Given the description of an element on the screen output the (x, y) to click on. 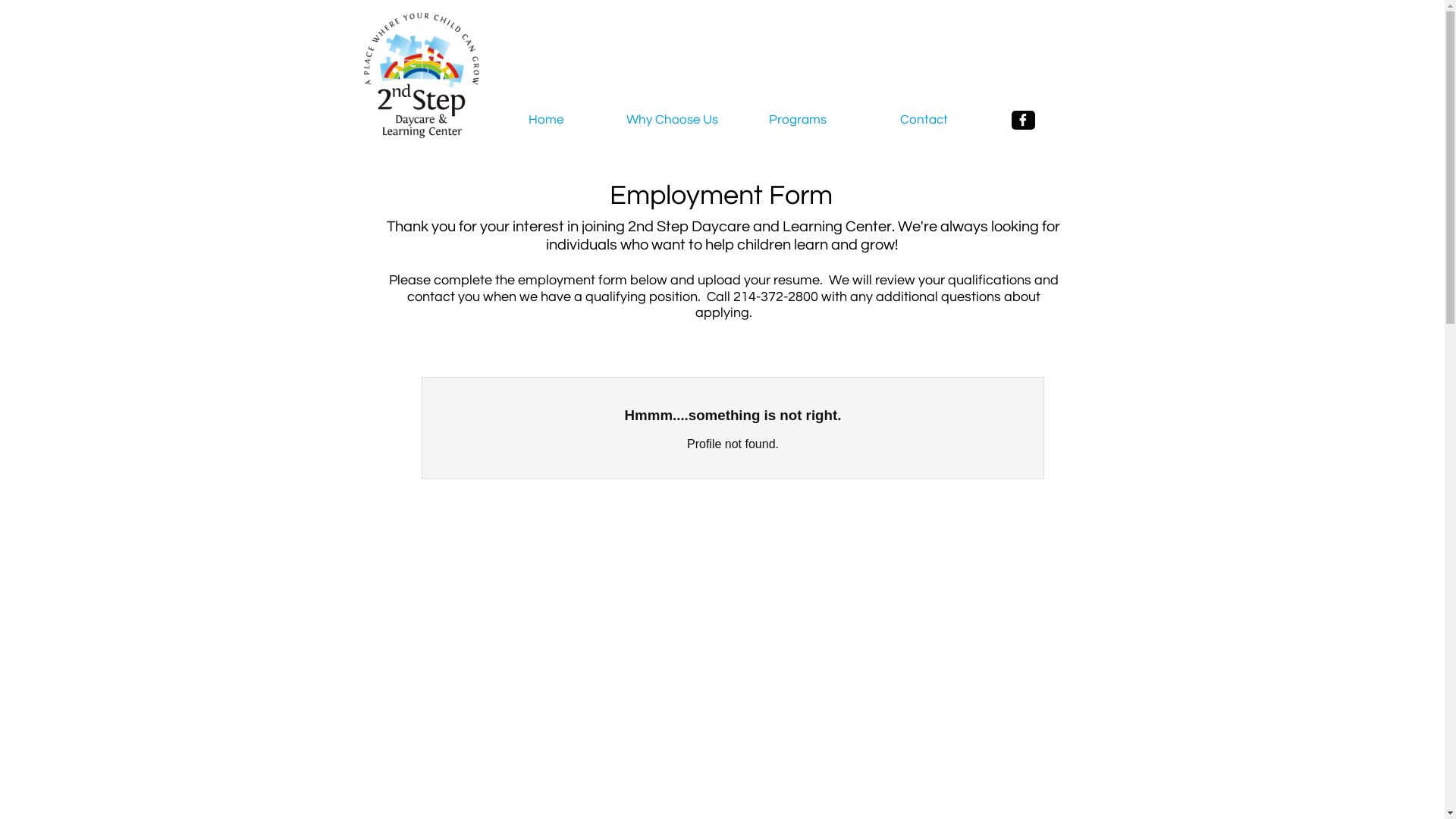
Contact Element type: text (923, 119)
Home Element type: text (545, 119)
Programs Element type: text (797, 119)
Why Choose Us Element type: text (671, 119)
